Given the description of an element on the screen output the (x, y) to click on. 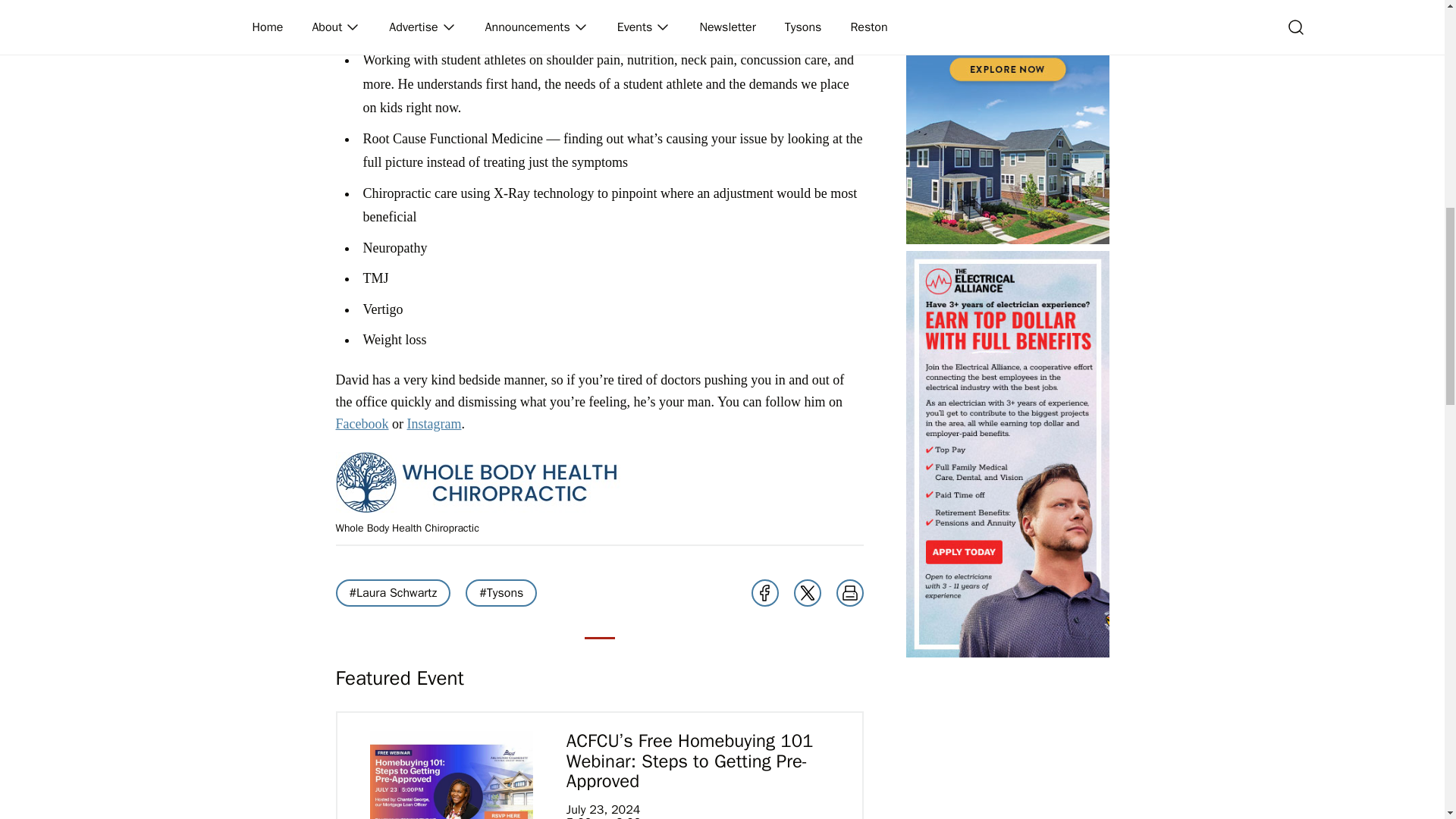
Earn Top Dollar FFXnow A (1006, 453)
Explore Now Streetscape (1006, 122)
Whole Body Health Chiropractic (477, 482)
